Given the description of an element on the screen output the (x, y) to click on. 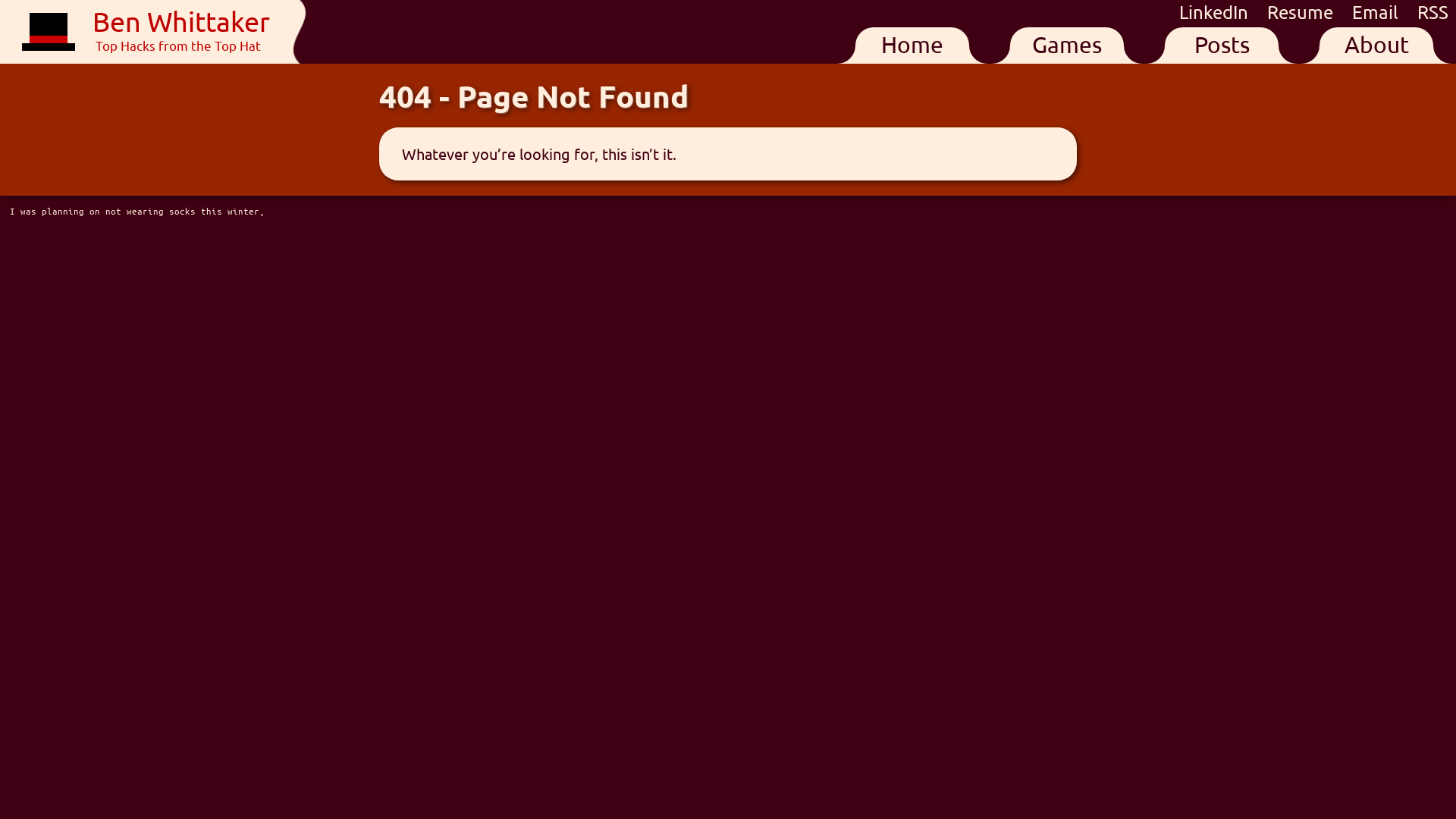
About Element type: text (1376, 45)
Resume Element type: text (1302, 11)
Ben Whittaker
Top Hacks from the Top Hat Element type: text (145, 31)
RSS Element type: text (1432, 11)
Posts Element type: text (1221, 45)
Home Element type: text (912, 45)
LinkedIn Element type: text (1215, 11)
Games Element type: text (1066, 45)
Email Element type: text (1377, 11)
